Given the description of an element on the screen output the (x, y) to click on. 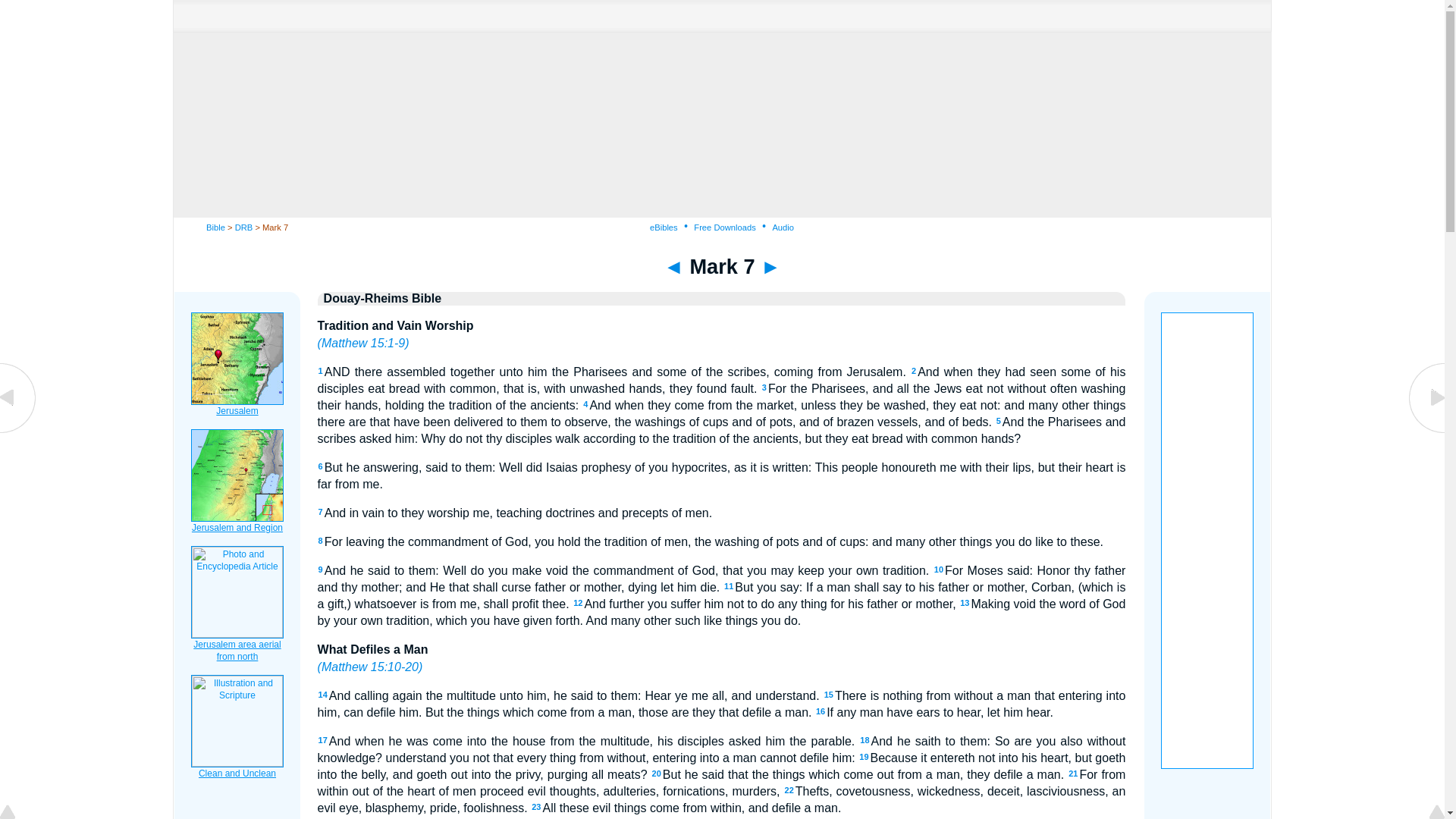
DRB (243, 226)
23 (535, 806)
20 (656, 773)
17 (322, 739)
Matthew 15:10-20 (370, 666)
14 (322, 694)
16 (820, 710)
22 (788, 789)
13 (964, 602)
21 (1072, 773)
Mark 6 (18, 431)
Matthew 15:1-9 (362, 342)
11 (728, 585)
Top of Page (18, 813)
19 (863, 756)
